Given the description of an element on the screen output the (x, y) to click on. 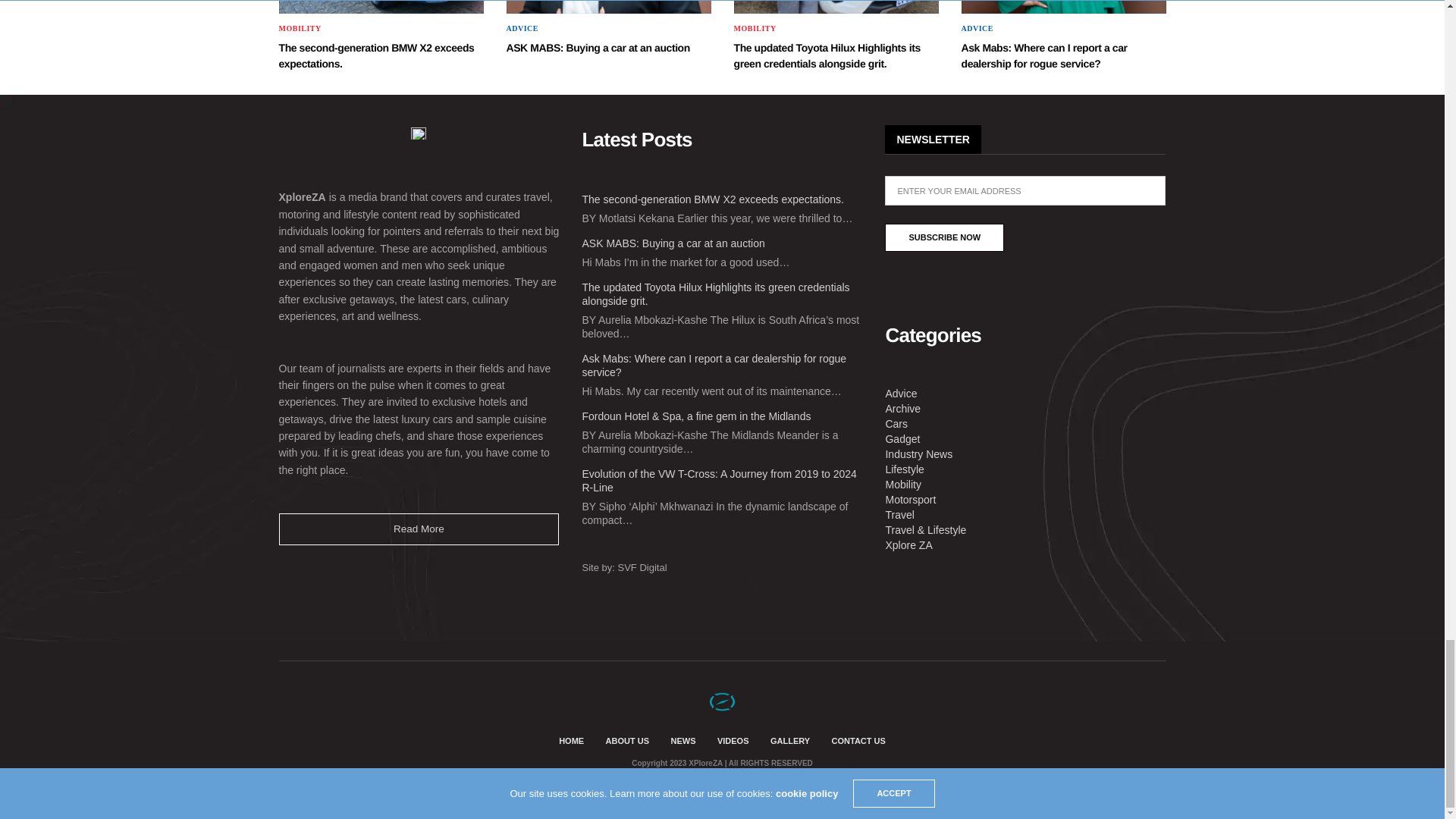
ASK MABS: Buying a car at an auction (598, 47)
The second-generation BMW X2 exceeds expectations. (381, 6)
Advice (522, 28)
Mobility (300, 28)
ASK MABS: Buying a car at an auction (608, 6)
Subscribe Now (944, 237)
Mobility (754, 28)
Advice (976, 28)
The second-generation BMW X2 exceeds expectations. (376, 55)
